Given the description of an element on the screen output the (x, y) to click on. 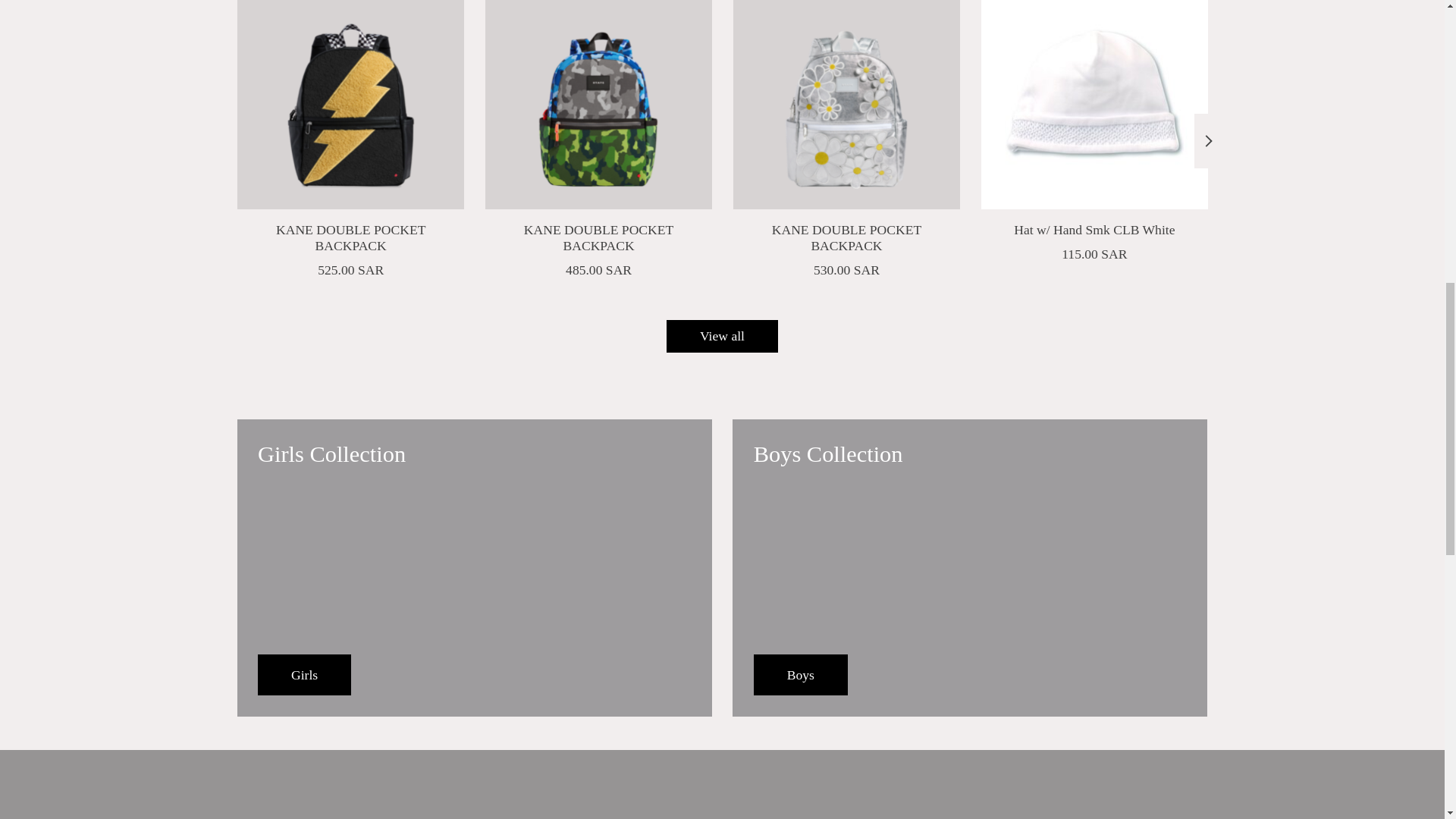
KANE DOUBLE POCKET BACKPACK (845, 104)
KANE DOUBLE POCKET BACKPACK (597, 104)
KANE DOUBLE POCKET BACKPACK (349, 104)
